Given the description of an element on the screen output the (x, y) to click on. 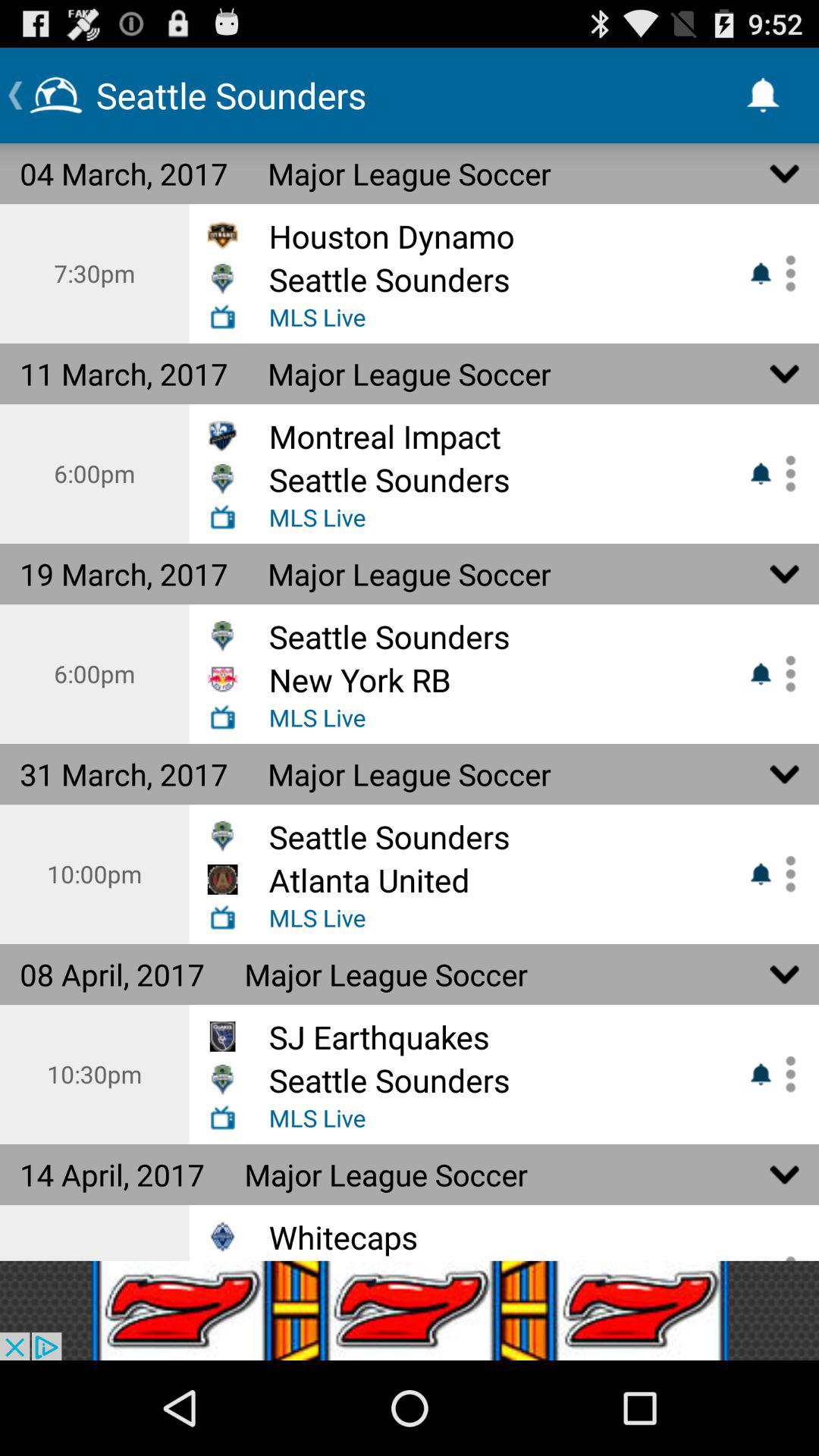
alert option (785, 273)
